Given the description of an element on the screen output the (x, y) to click on. 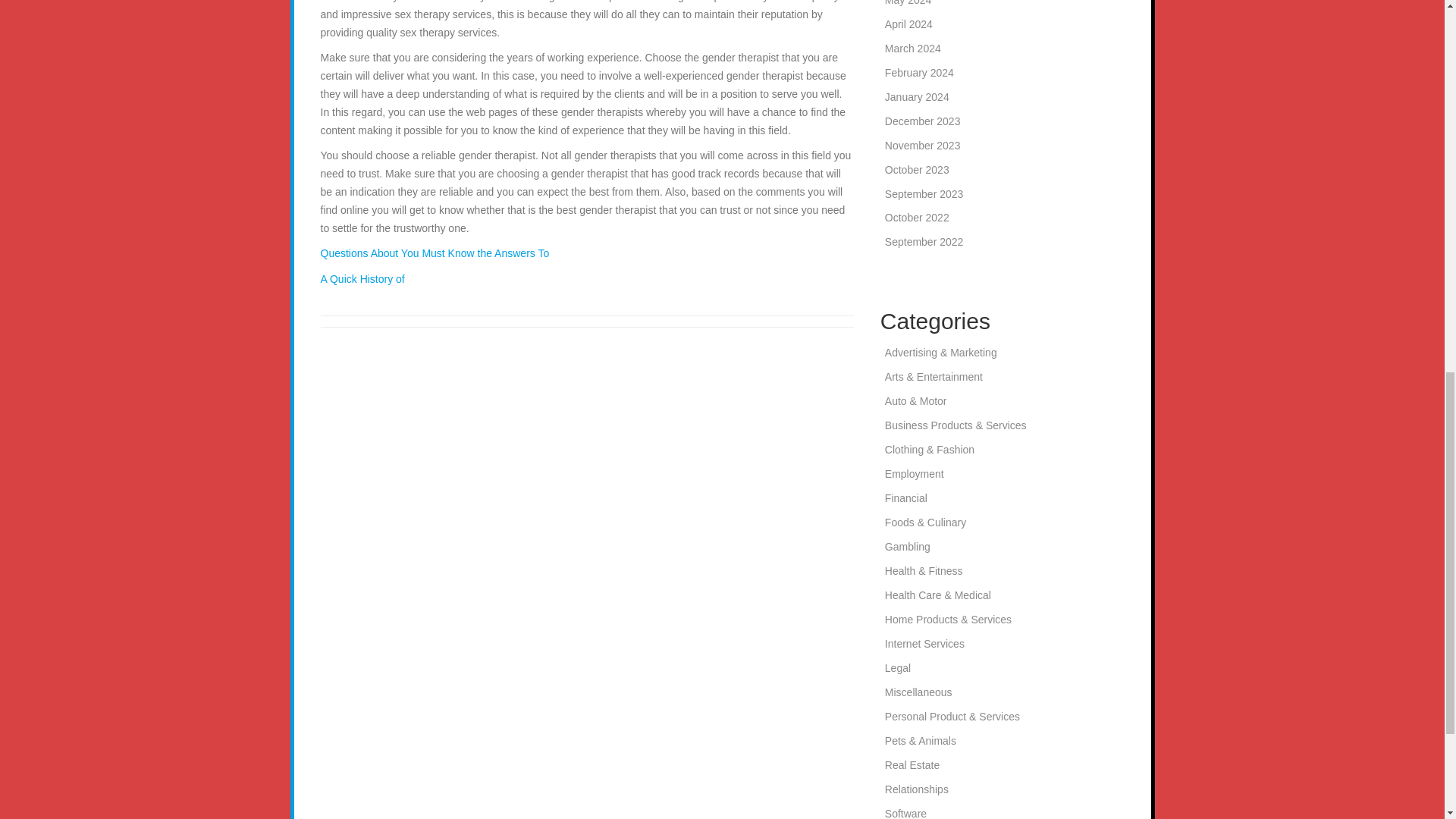
Financial (906, 498)
February 2024 (919, 72)
Questions About You Must Know the Answers To (434, 253)
January 2024 (917, 96)
March 2024 (912, 48)
Employment (914, 473)
September 2023 (924, 193)
May 2024 (908, 2)
Gambling (907, 546)
December 2023 (922, 121)
October 2022 (917, 217)
November 2023 (922, 145)
April 2024 (909, 24)
October 2023 (917, 169)
A Quick History of (362, 278)
